Given the description of an element on the screen output the (x, y) to click on. 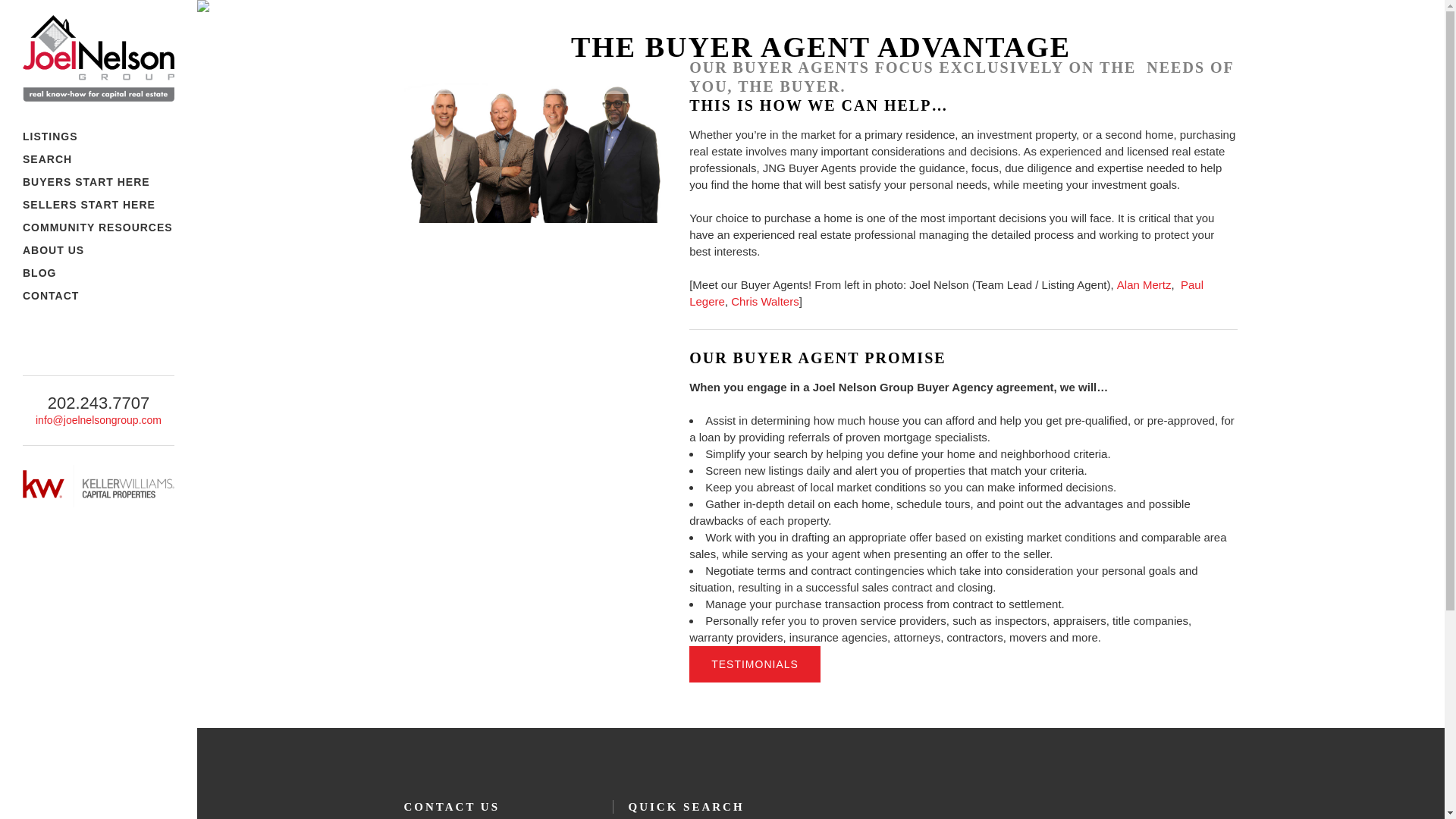
BUYERS START HERE (98, 181)
Listings (98, 136)
BLOG (98, 272)
SEARCH (98, 159)
ABOUT US (98, 250)
LISTINGS (98, 136)
Buyers Start Here (98, 181)
CONTACT (98, 295)
SELLERS START HERE (98, 204)
COMMUNITY RESOURCES (98, 227)
Search (98, 159)
